Given the description of an element on the screen output the (x, y) to click on. 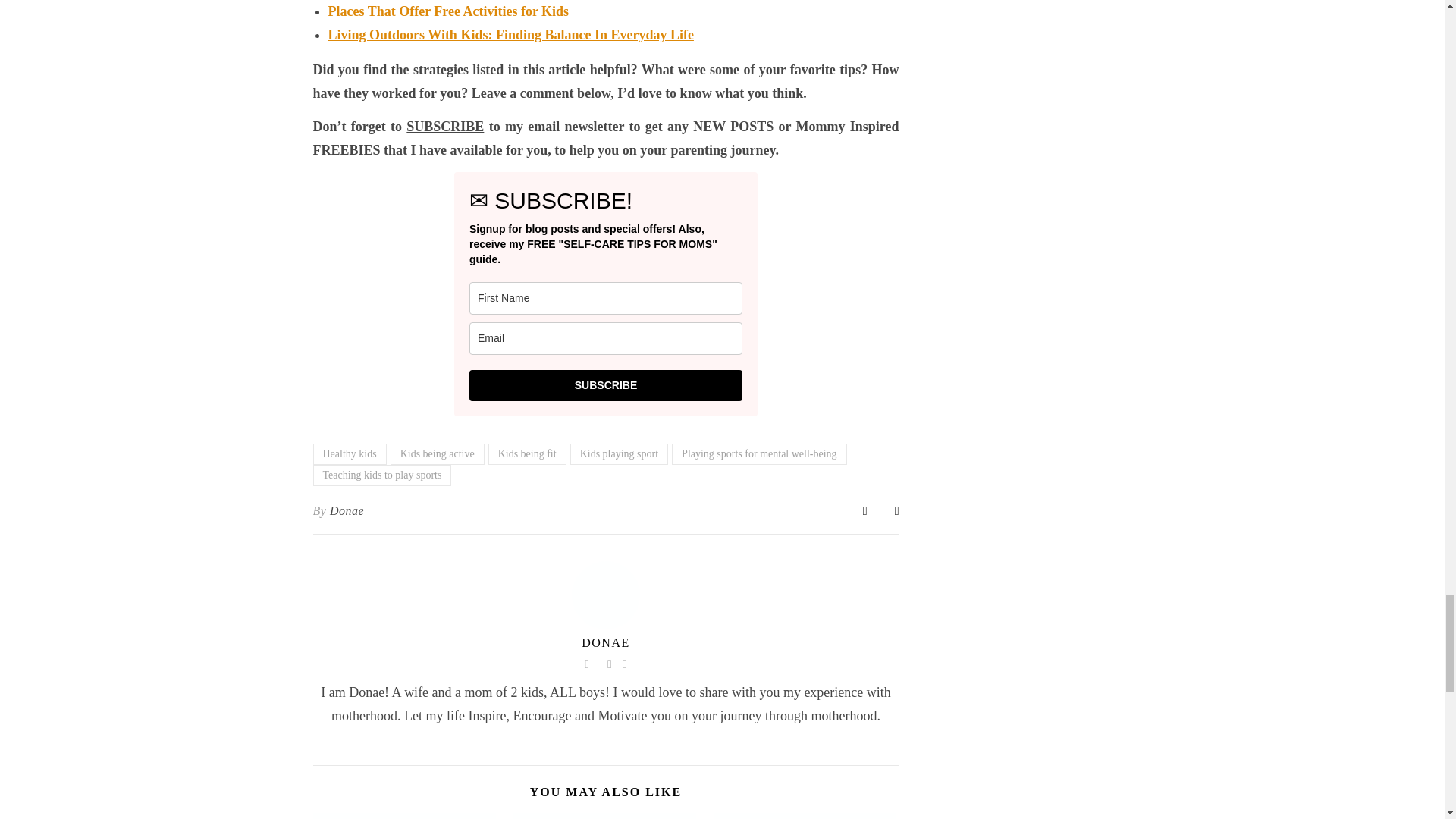
Posts by Donae (605, 642)
SUBSCRIBE (605, 385)
Living Outdoors With Kids: Finding Balance In Everyday Life (510, 34)
Places That Offer Free Activities for Kids (448, 11)
Posts by Donae (347, 510)
